Given the description of an element on the screen output the (x, y) to click on. 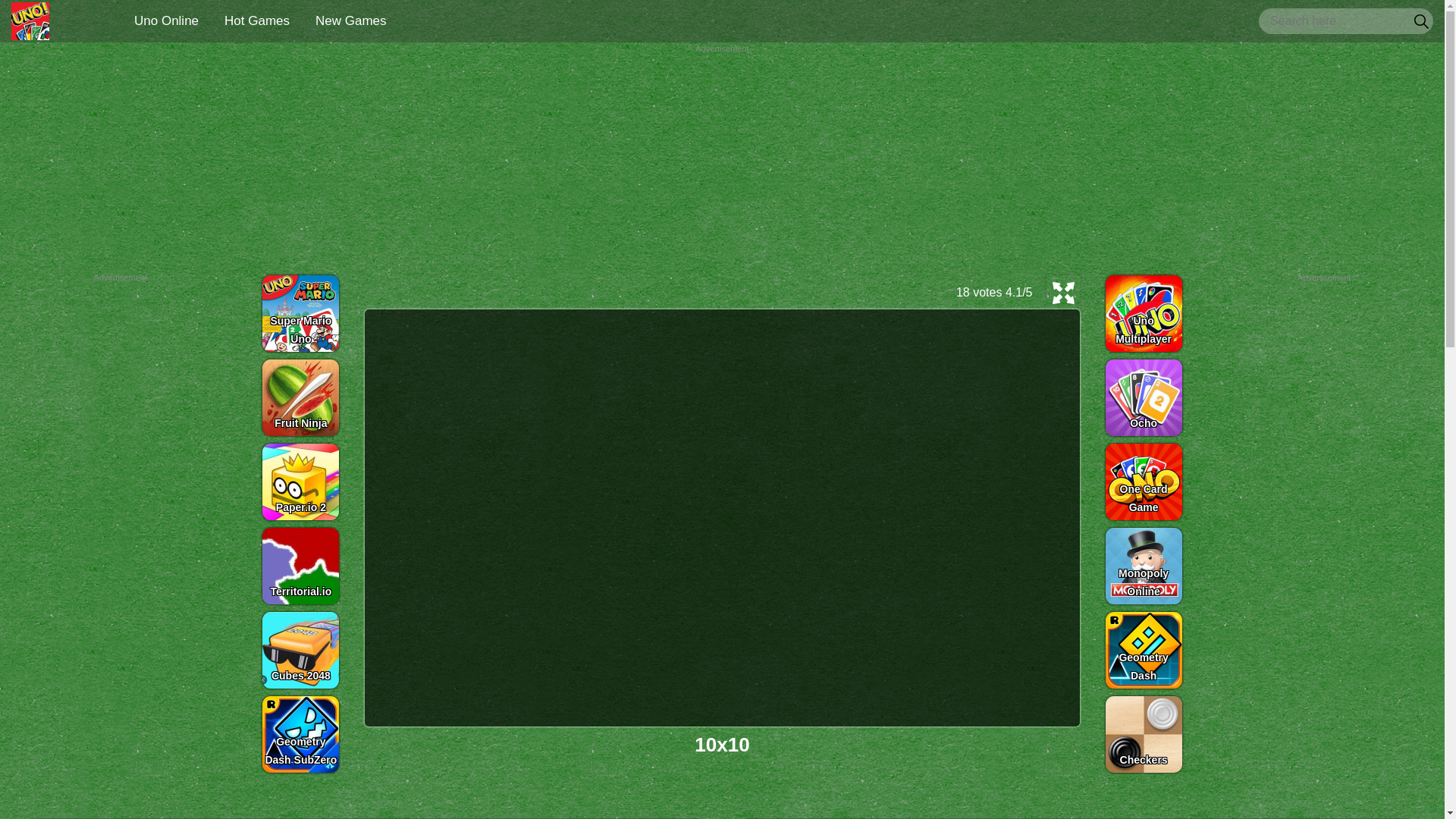
Geometry Dash (1144, 648)
Cubes 2048 (300, 648)
Hot Games (256, 20)
Uno Multiplayer (1143, 312)
Paper.io 2 (300, 481)
Geometry Dash SubZero (300, 734)
Geometry Dash SubZero (300, 734)
Uno Online (30, 21)
Uno Multiplayer (1144, 312)
Ocho (1144, 397)
Territorial.io (300, 565)
Checkers (1144, 734)
New Games (350, 20)
Cubes 2048 (300, 648)
Uno Online (166, 20)
